Given the description of an element on the screen output the (x, y) to click on. 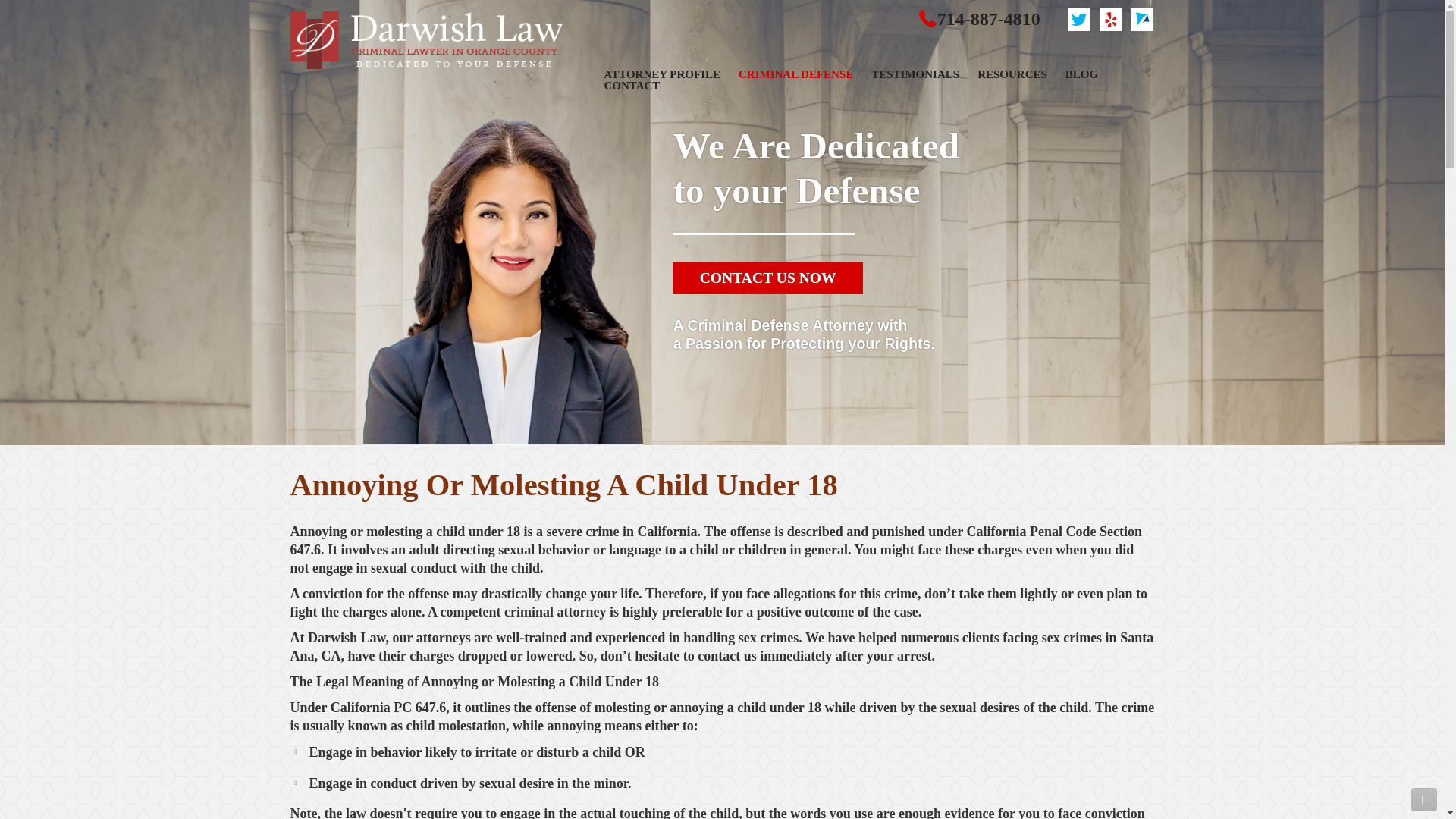
Go to Top (1423, 799)
CRIMINAL DEFENSE (795, 74)
714-887-4810 (989, 18)
ATTORNEY PROFILE (662, 74)
